Given the description of an element on the screen output the (x, y) to click on. 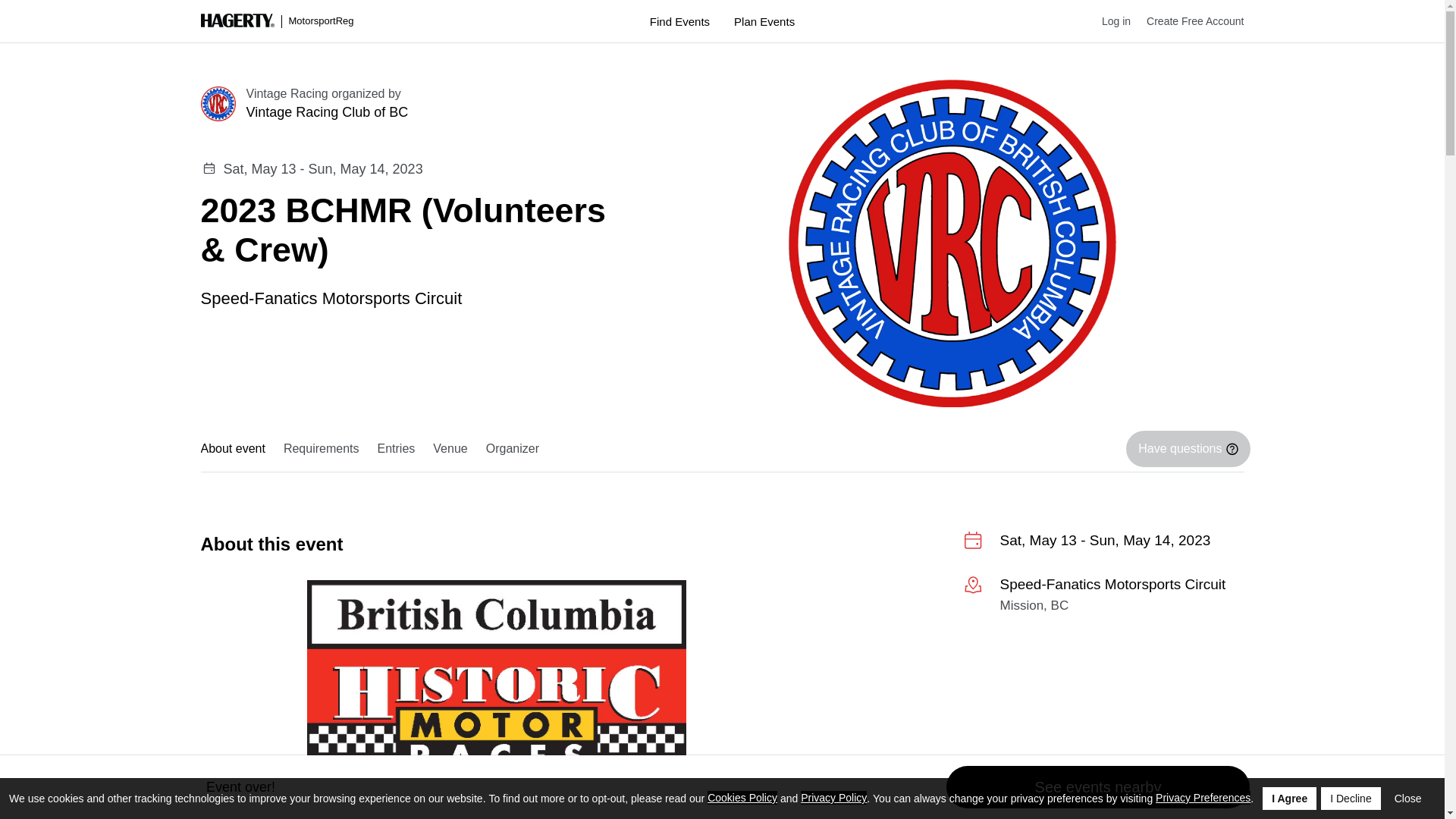
Have questions (1187, 448)
More info (1102, 597)
Close (1408, 798)
Create Free Account (1187, 21)
I Decline (1350, 798)
Log in (1108, 21)
Vintage Racing Club of BC (435, 112)
Privacy Policy (833, 797)
Speed-Fanatics Motorsports Circuit (330, 296)
Vintage Racing (286, 92)
